Given the description of an element on the screen output the (x, y) to click on. 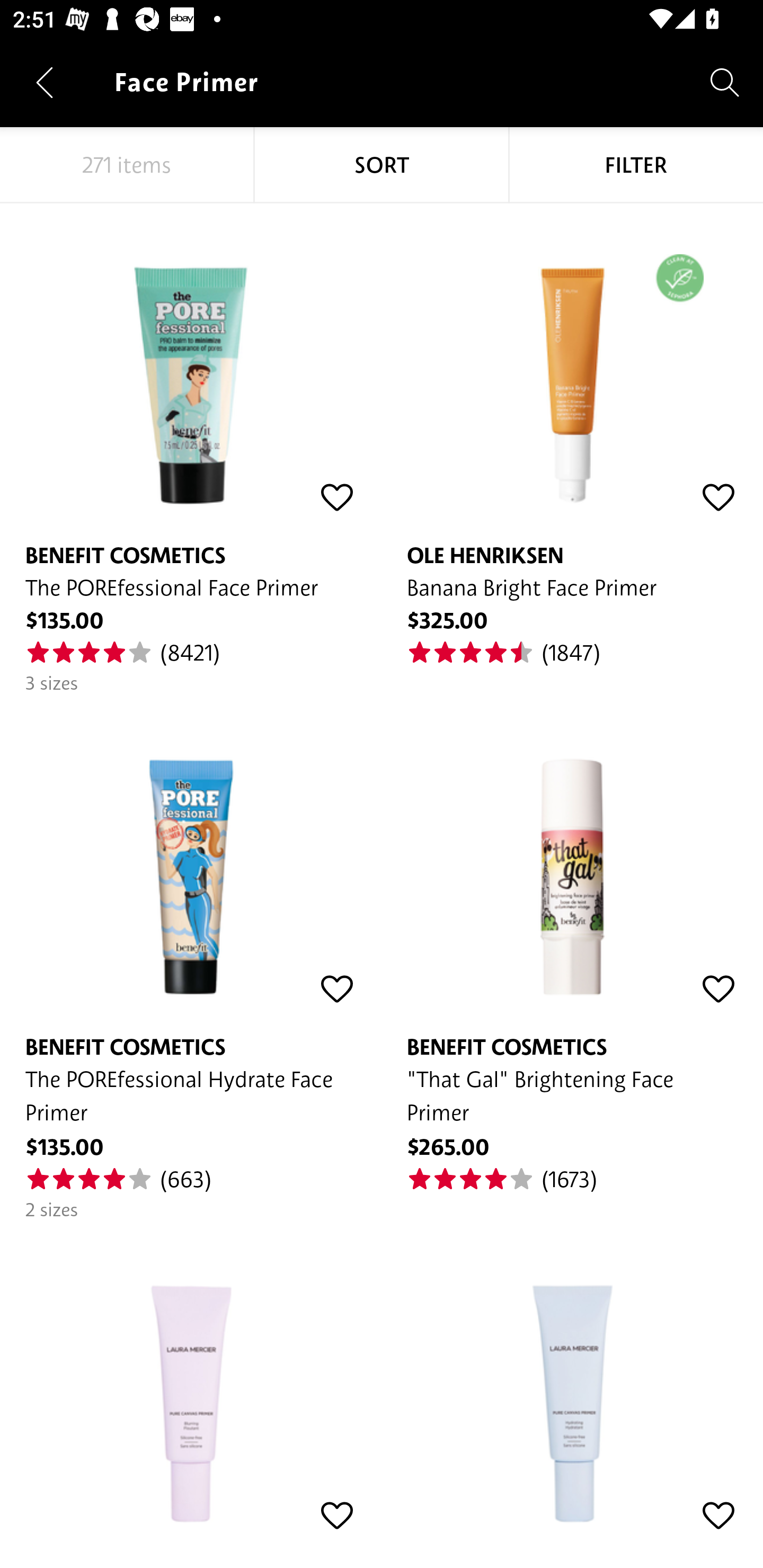
Navigate up (44, 82)
Search (724, 81)
SORT (381, 165)
FILTER (636, 165)
LAURA MERCIER (190, 1381)
LAURA MERCIER (571, 1381)
